Given the description of an element on the screen output the (x, y) to click on. 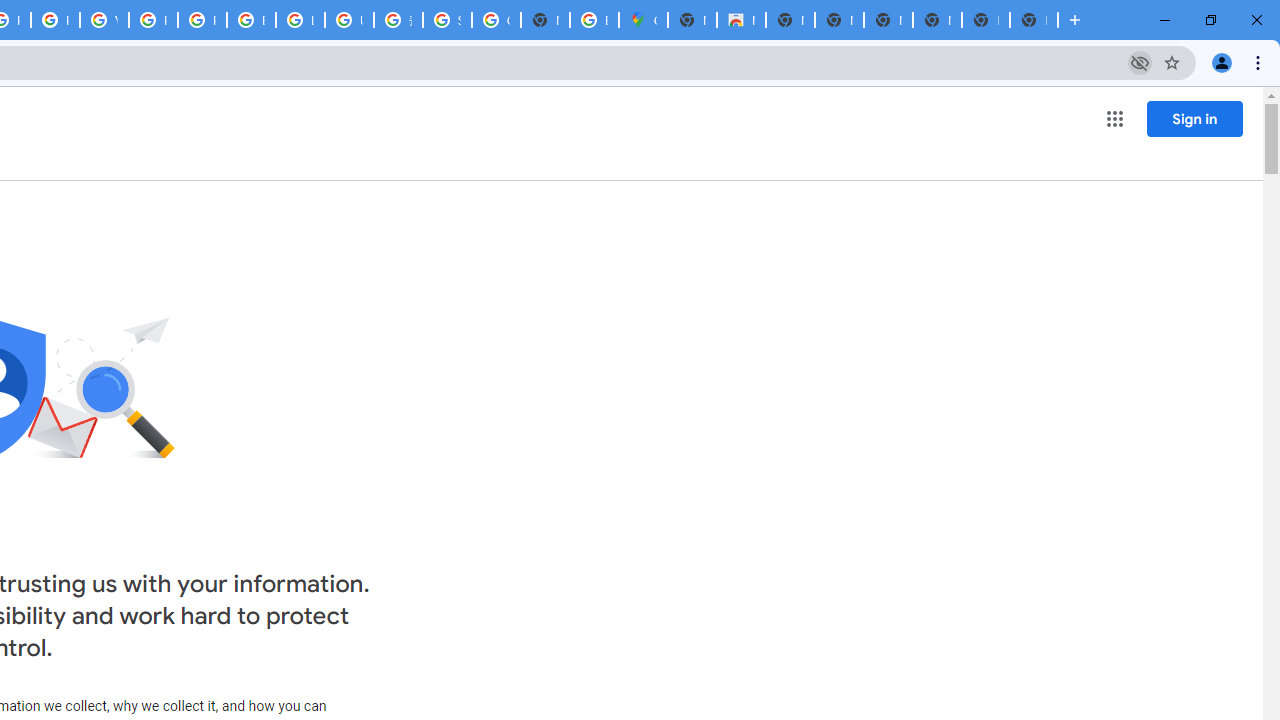
Explore new street-level details - Google Maps Help (594, 20)
Sign in - Google Accounts (447, 20)
New Tab (1033, 20)
